Given the description of an element on the screen output the (x, y) to click on. 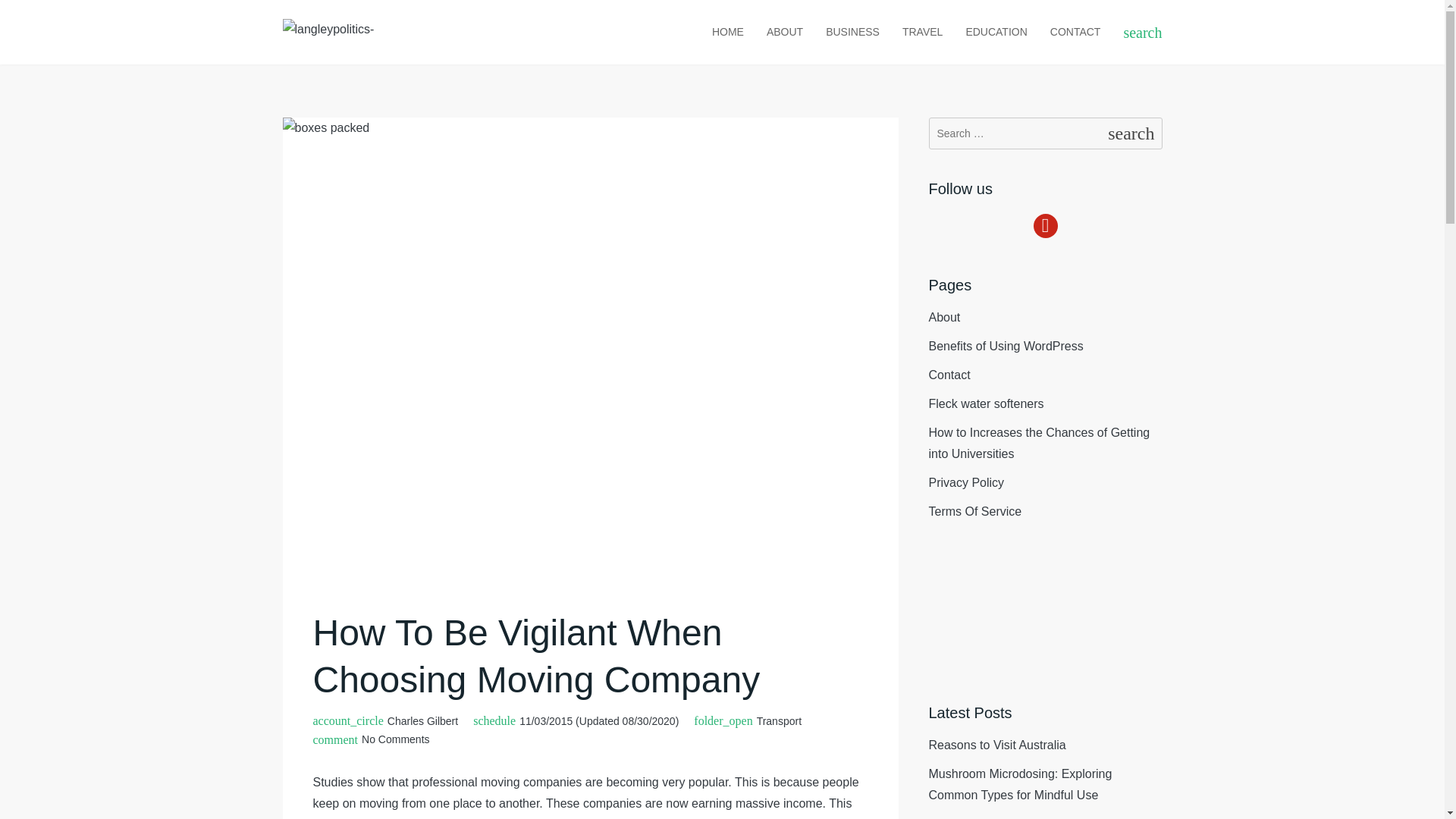
search (1141, 31)
pinterest (1044, 224)
Benefits of Using WordPress (1005, 345)
Terms Of Service (975, 511)
EDUCATION (995, 32)
How to Increases the Chances of Getting into Universities (1039, 442)
Transport (779, 721)
TRAVEL (922, 32)
Mushroom Microdosing: Exploring Common Types for Mindful Use (1020, 784)
Fleck water softeners (985, 403)
Reasons to Visit Australia (996, 744)
BUSINESS (852, 32)
Facebook (1044, 224)
Charles Gilbert (422, 720)
HOME (727, 32)
